Given the description of an element on the screen output the (x, y) to click on. 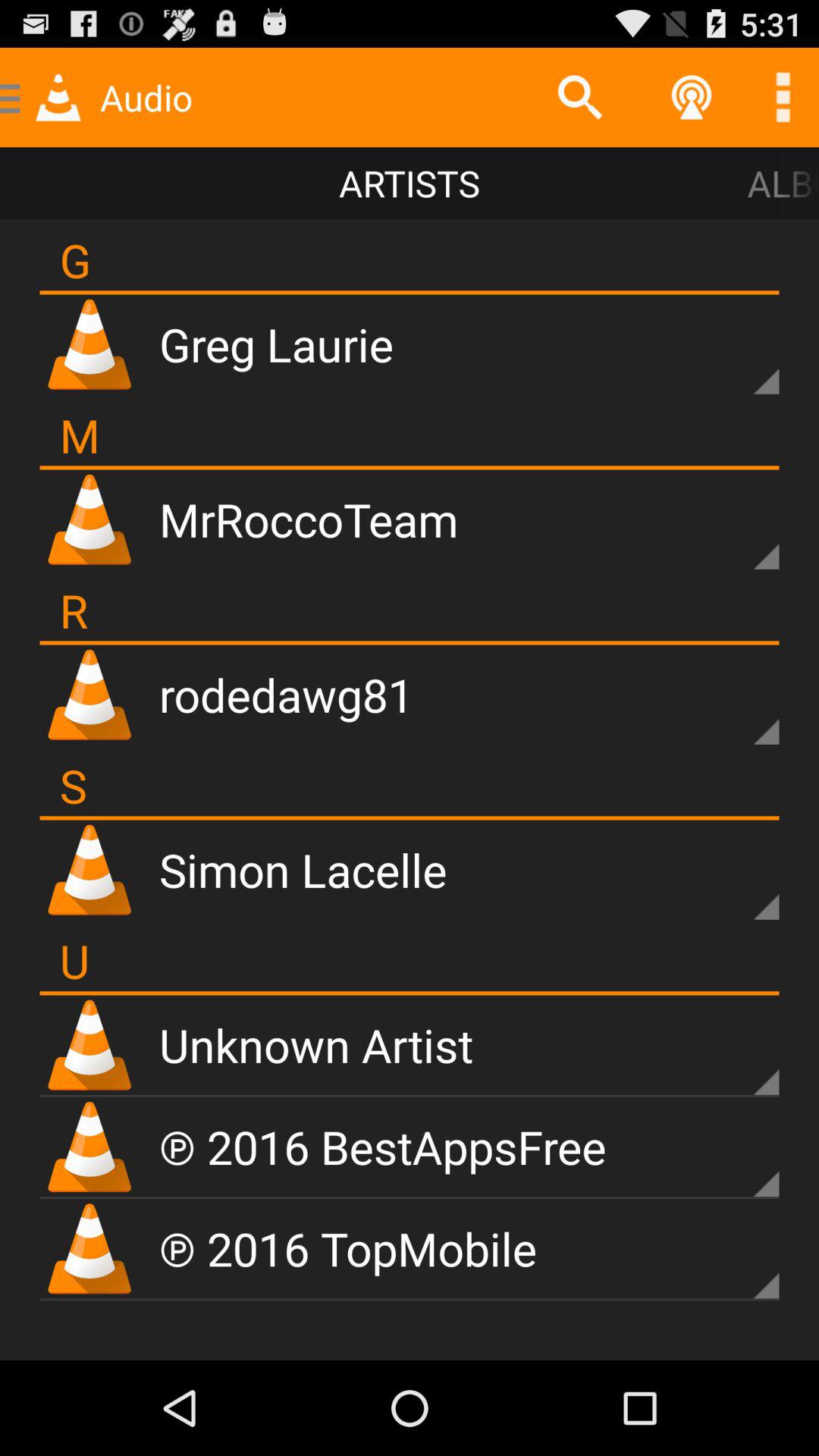
tap the item next to audio item (579, 97)
